Given the description of an element on the screen output the (x, y) to click on. 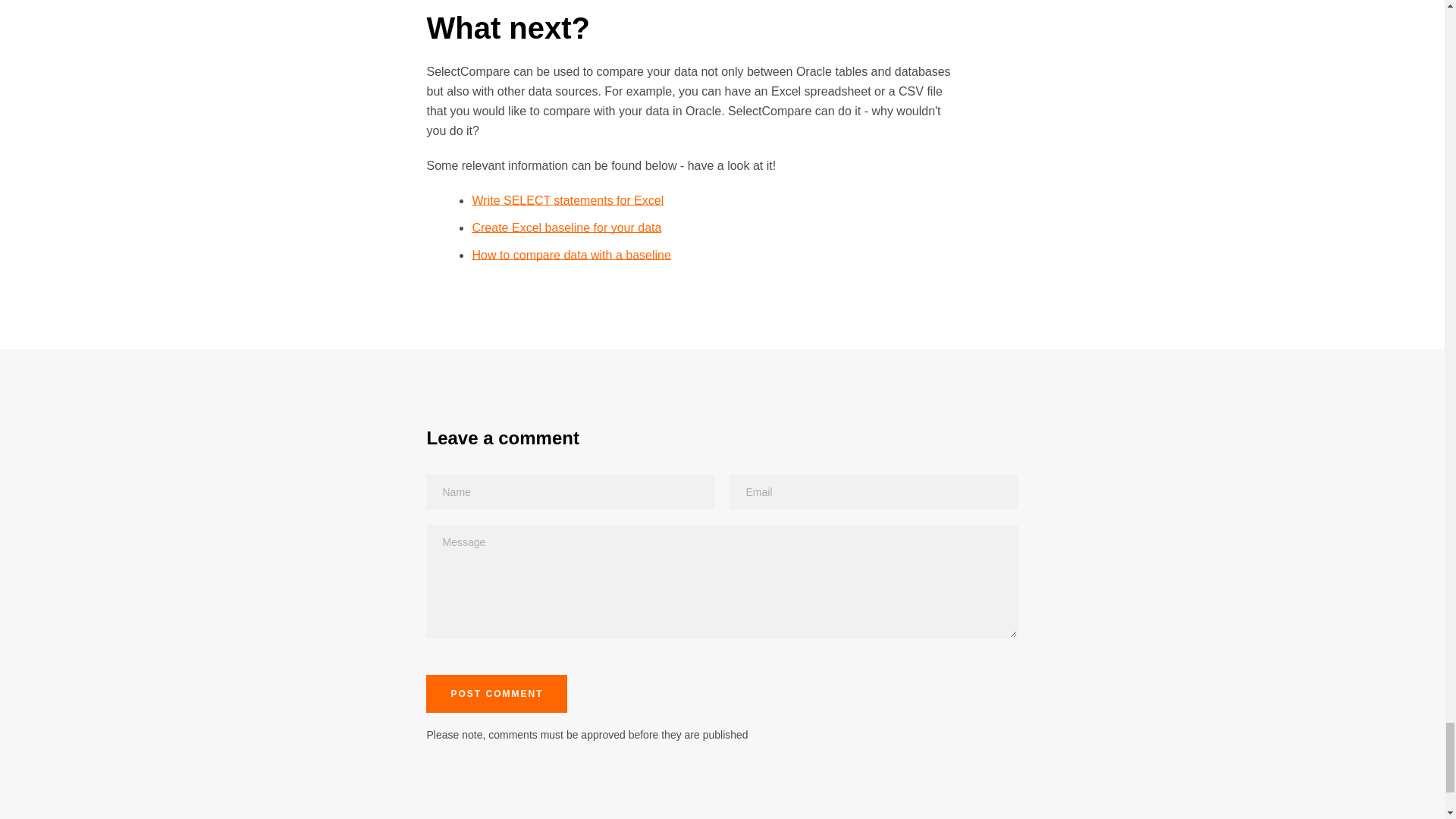
How to compare data with baseline (570, 254)
How to compare data with a baseline (570, 254)
Write SELECT statements for Excel (567, 200)
How to create an Excel baseline for the data (566, 227)
How to write SELECT statements for Excel spreadsheets (567, 200)
Post comment (496, 693)
Create Excel baseline for your data (566, 227)
Post comment (496, 693)
